Given the description of an element on the screen output the (x, y) to click on. 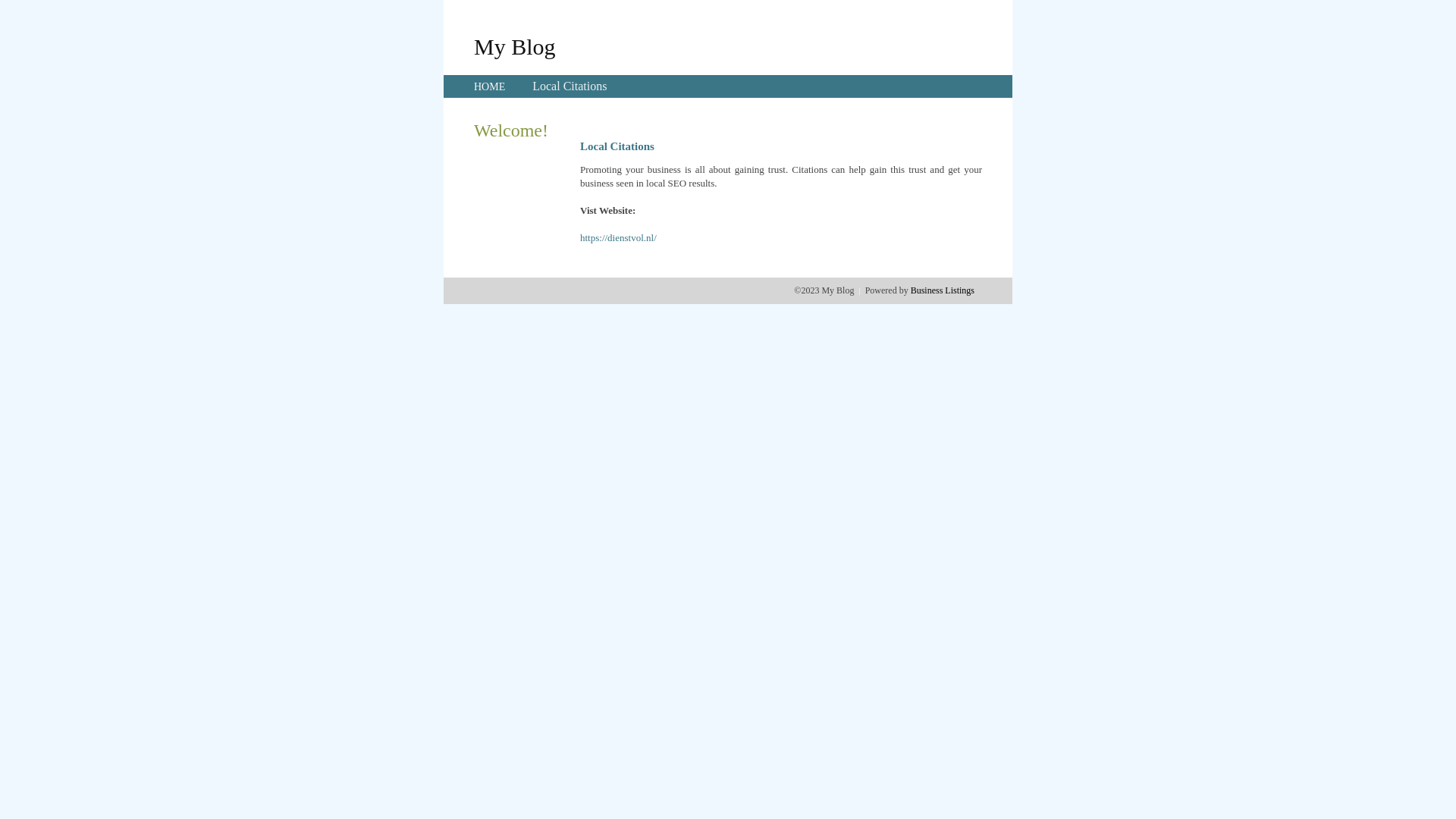
Business Listings Element type: text (942, 290)
https://dienstvol.nl/ Element type: text (618, 237)
My Blog Element type: text (514, 46)
HOME Element type: text (489, 86)
Local Citations Element type: text (569, 85)
